Given the description of an element on the screen output the (x, y) to click on. 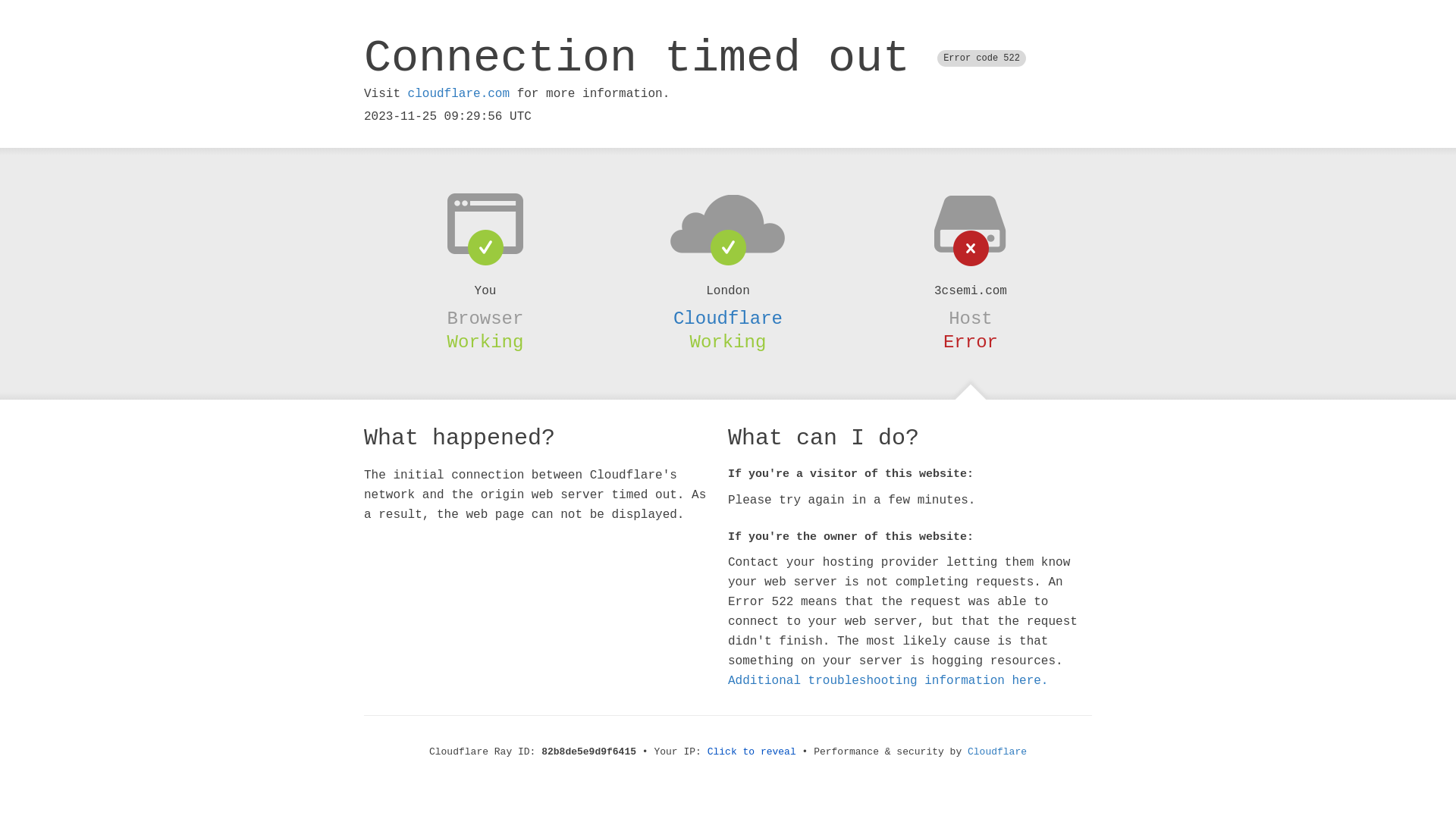
Cloudflare Element type: text (727, 318)
cloudflare.com Element type: text (458, 93)
Cloudflare Element type: text (996, 751)
Click to reveal Element type: text (751, 751)
Additional troubleshooting information here. Element type: text (888, 680)
